Given the description of an element on the screen output the (x, y) to click on. 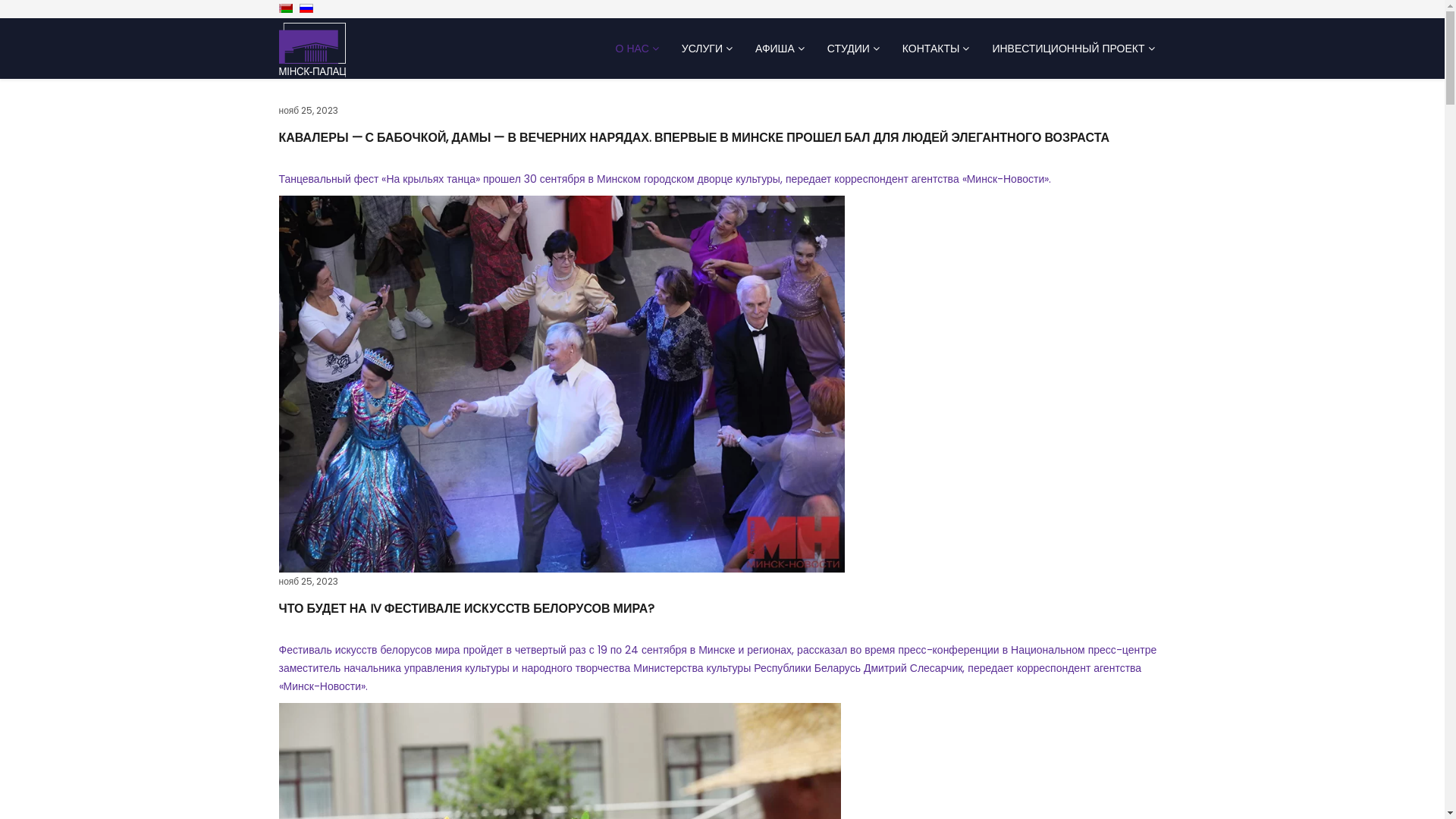
BY Element type: hover (285, 7)
Russian (Russia) Element type: hover (305, 7)
